Given the description of an element on the screen output the (x, y) to click on. 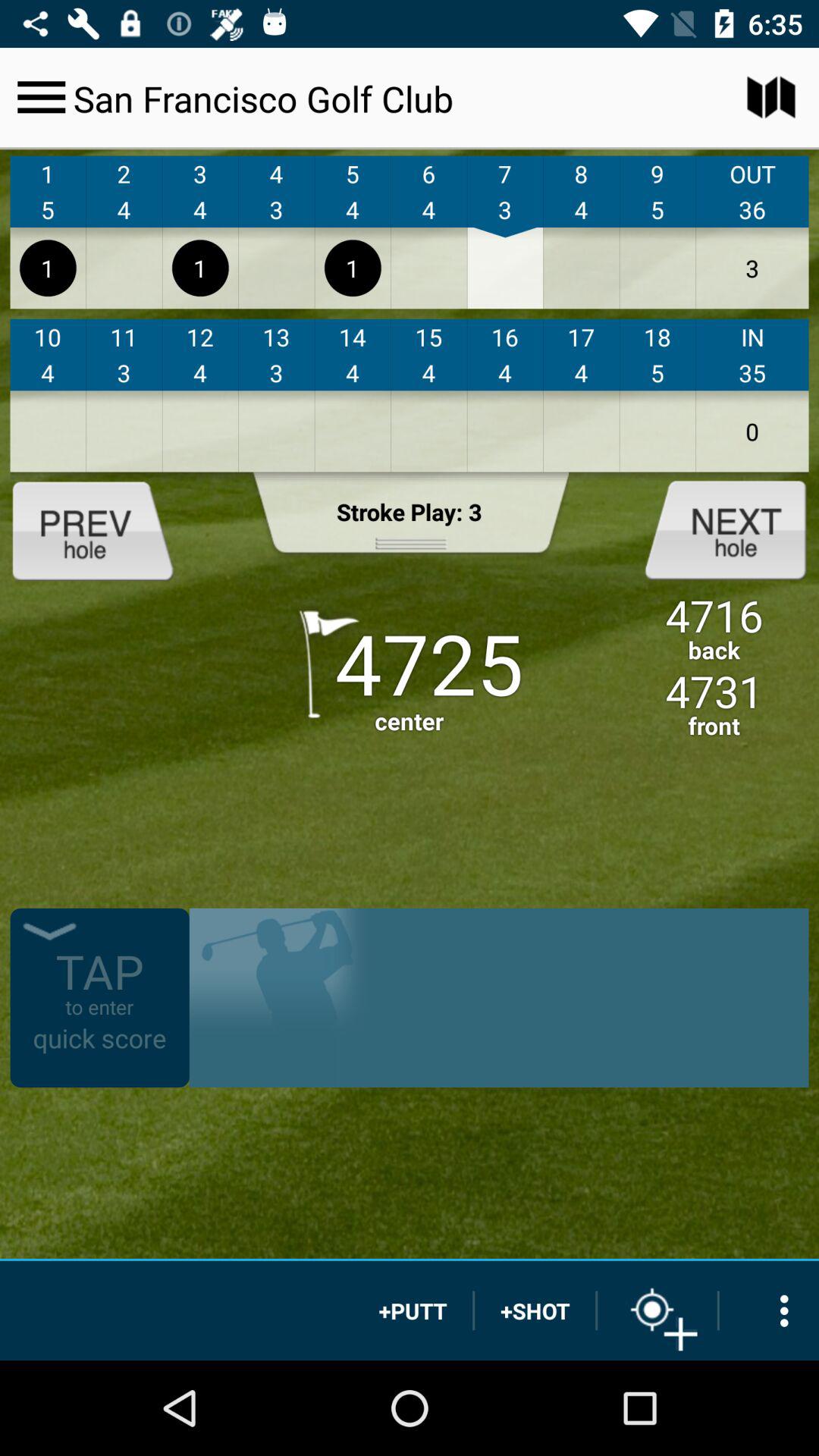
hamburger menu (41, 97)
